Given the description of an element on the screen output the (x, y) to click on. 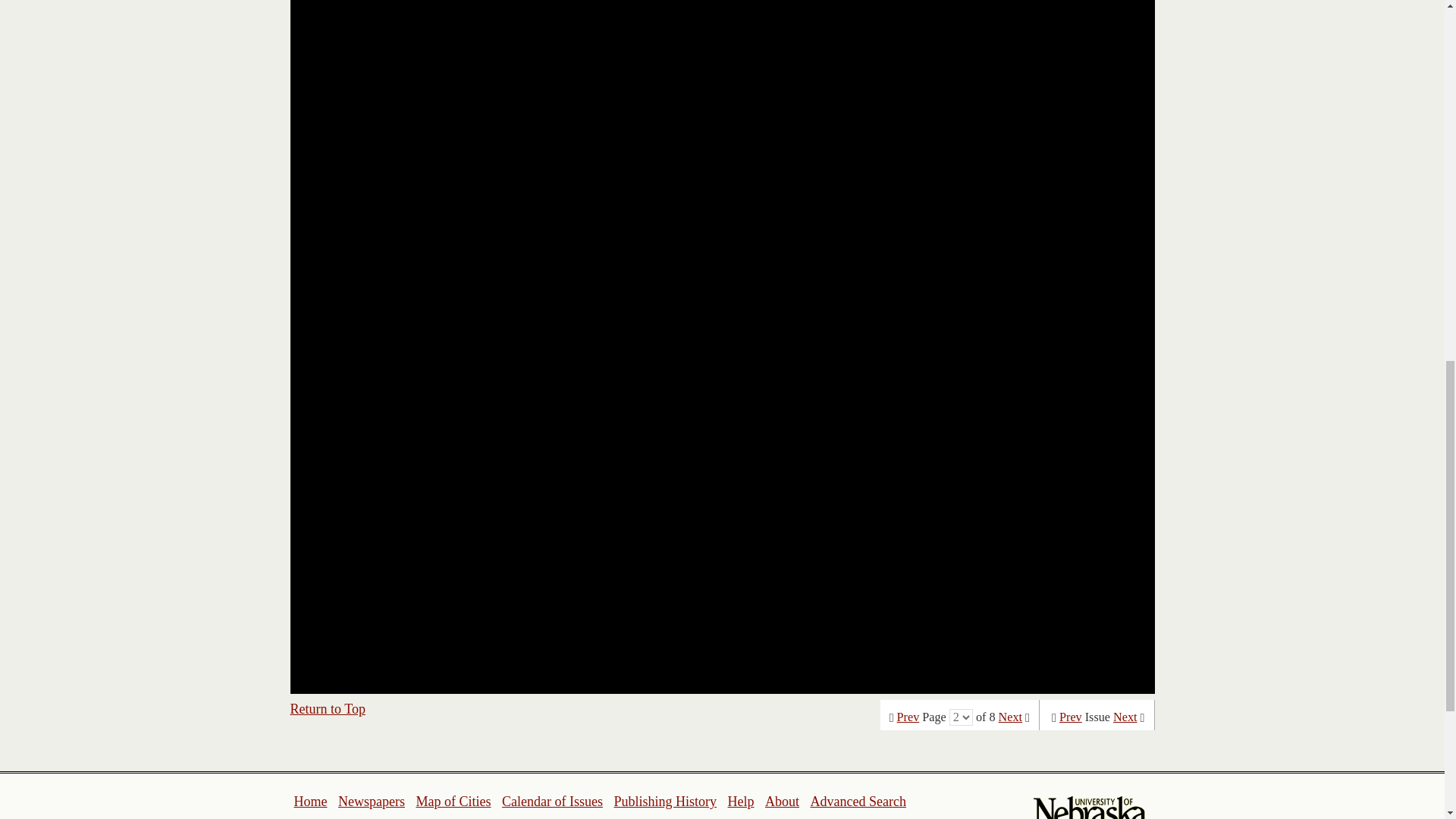
Publishing History (664, 801)
Calendar of Issues (552, 801)
Prev (1070, 716)
Help (740, 801)
Prev (908, 716)
About (782, 801)
Next (1125, 716)
Return to Top (327, 708)
Map of Cities (452, 801)
Next (1010, 716)
